Given the description of an element on the screen output the (x, y) to click on. 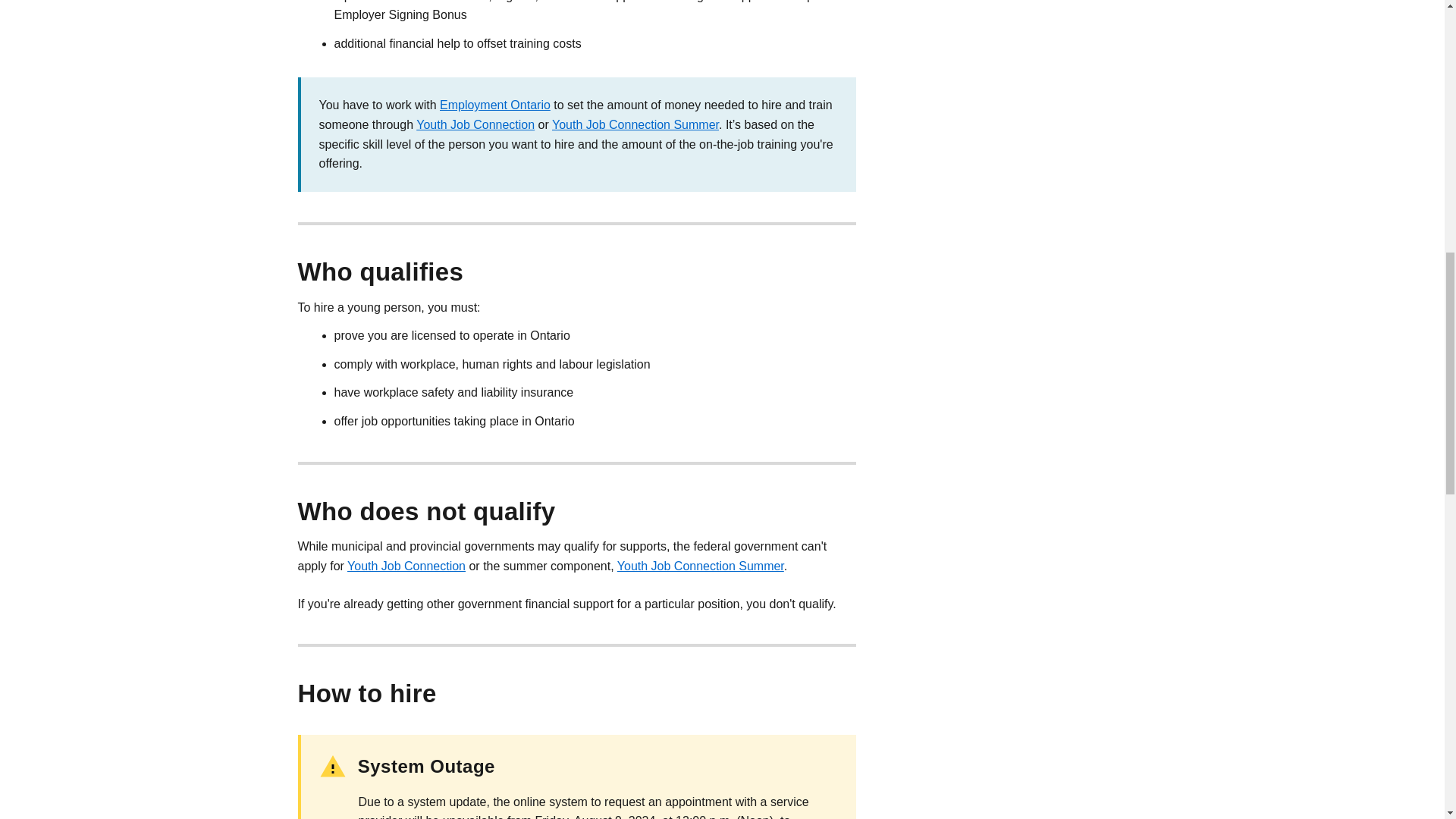
Youth Job Connection (475, 124)
Employment Ontario (494, 104)
Youth Job Connection Summer (635, 124)
Youth Job Connection Summer (700, 565)
Youth Job Connection (406, 565)
